Given the description of an element on the screen output the (x, y) to click on. 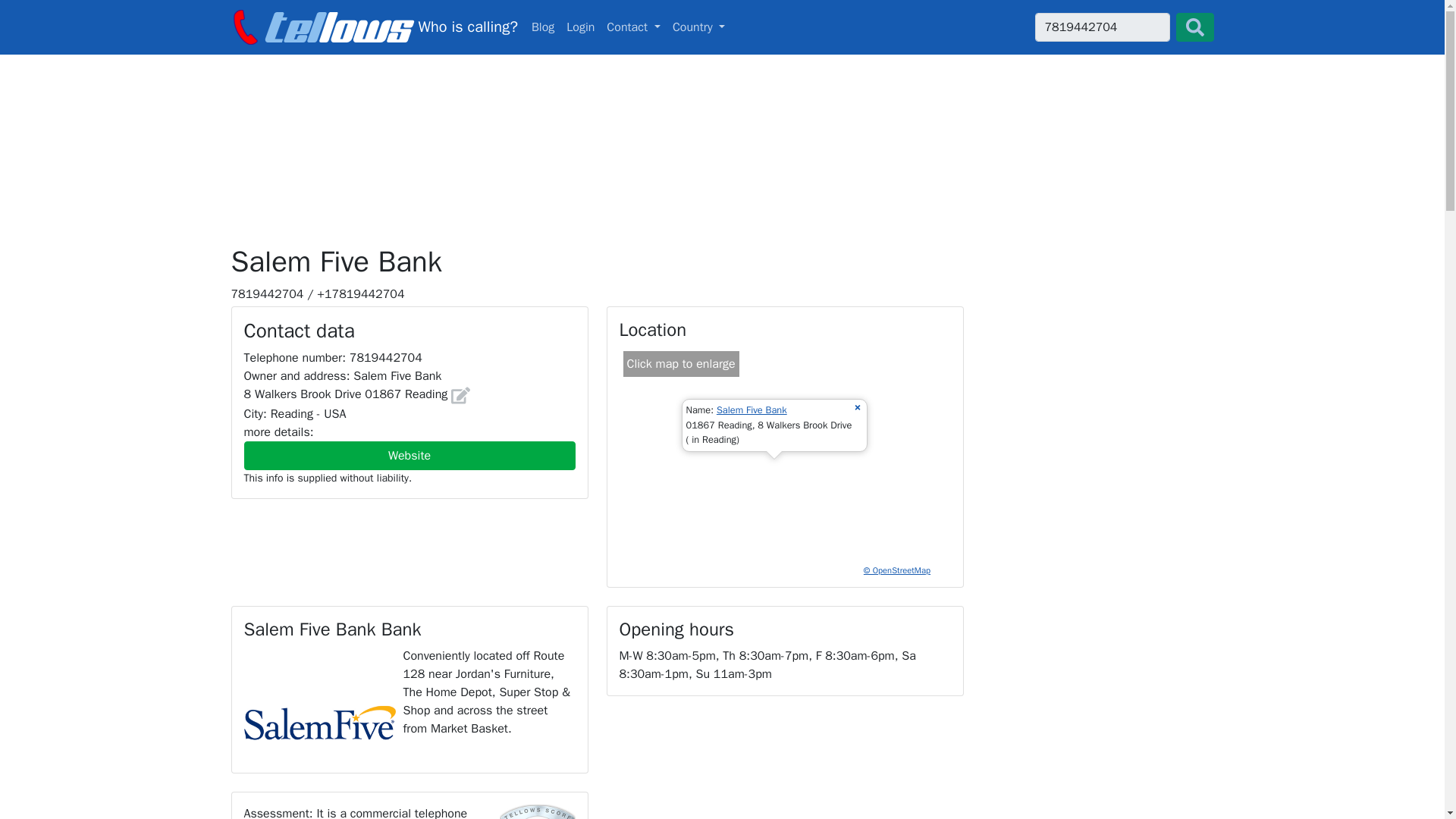
Website (409, 455)
Blog (542, 27)
Who is calling? (373, 26)
Country (699, 27)
Blog (542, 27)
Salem Five Bank (722, 26)
Contact (751, 410)
tellows - the community for calls, phone spam and complaints (632, 27)
Login (373, 26)
7819442704 (579, 27)
